Given the description of an element on the screen output the (x, y) to click on. 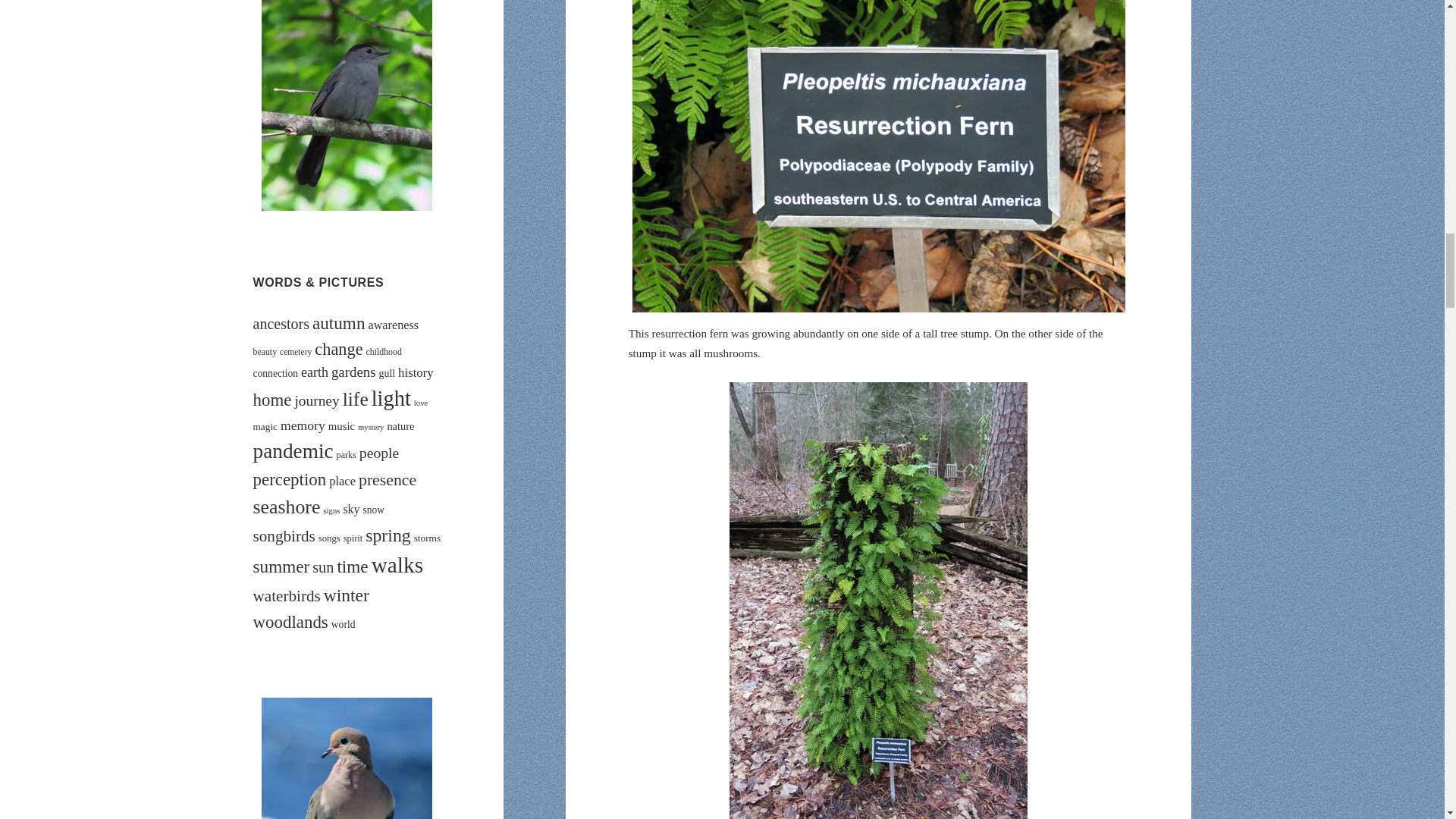
ancestors (280, 323)
autumn (339, 322)
connection (275, 373)
gardens (353, 371)
love (420, 402)
memory (302, 425)
change (338, 348)
home (272, 399)
earth (315, 372)
journey (316, 400)
childhood (383, 351)
nature (400, 426)
parks (346, 454)
history (415, 372)
cemetery (295, 351)
